Given the description of an element on the screen output the (x, y) to click on. 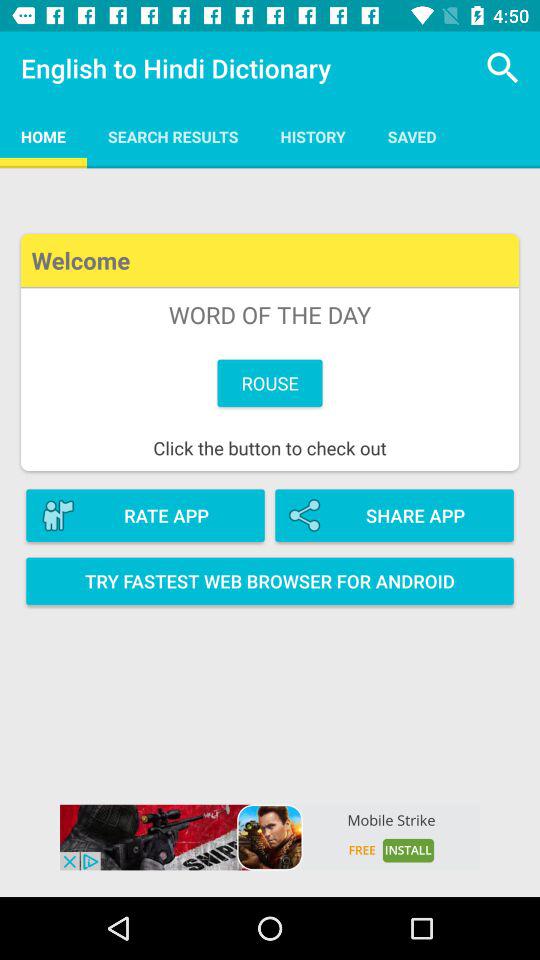
selected advertisement (270, 837)
